Given the description of an element on the screen output the (x, y) to click on. 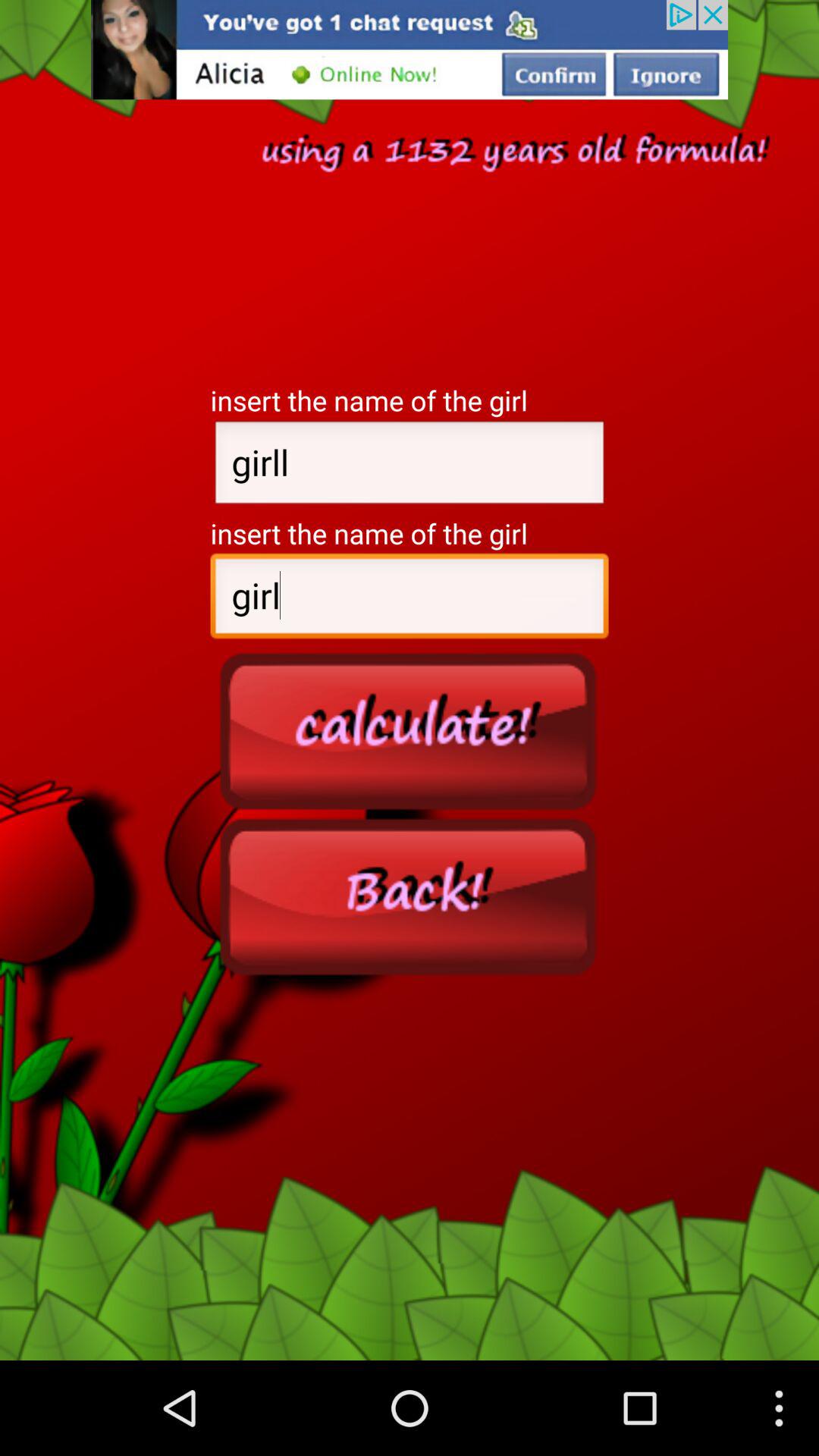
pop-up advertisement (409, 49)
